Given the description of an element on the screen output the (x, y) to click on. 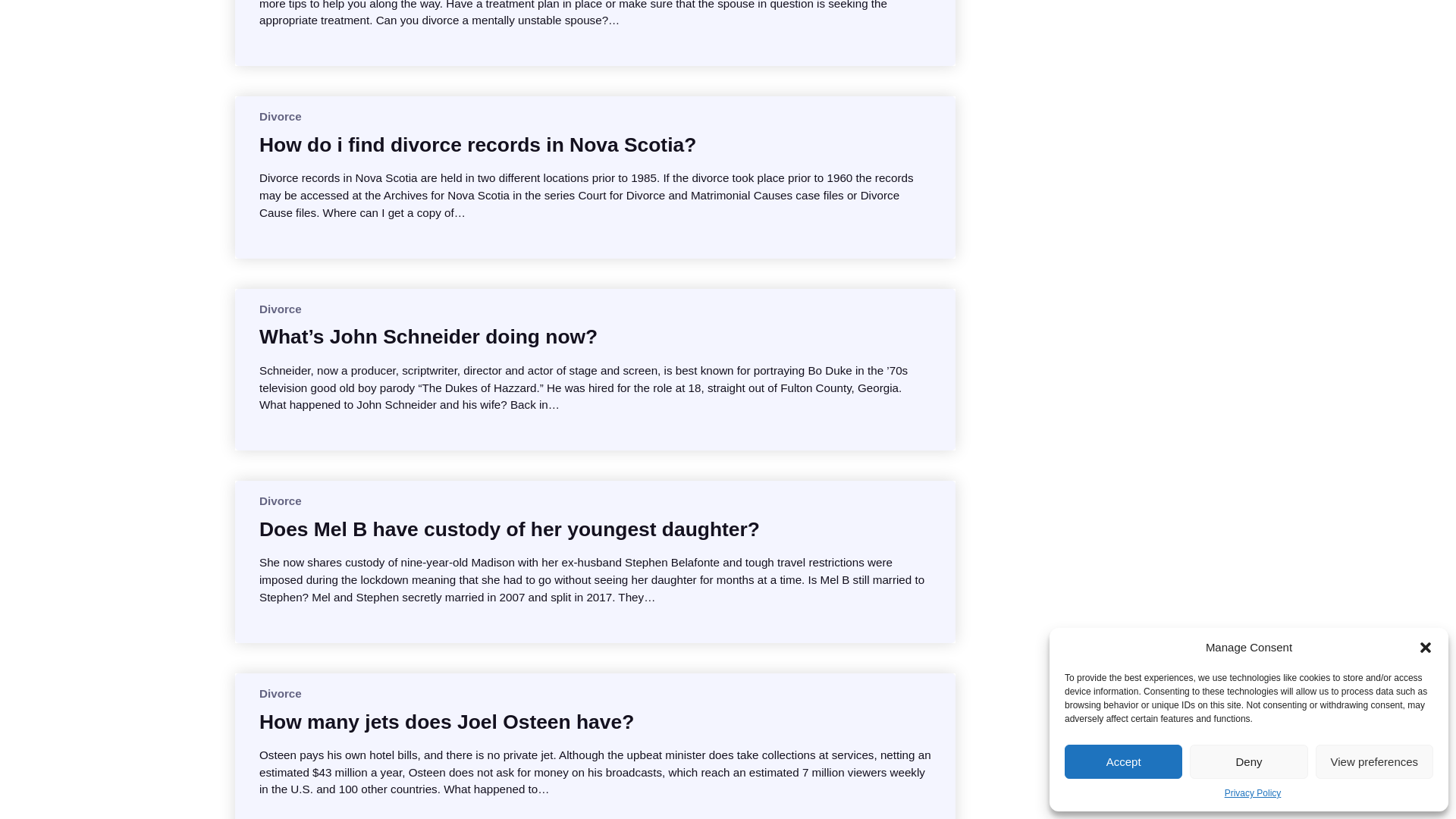
Divorce (280, 693)
Divorce (280, 500)
How do i find divorce records in Nova Scotia? (477, 144)
Does Mel B have custody of her youngest daughter? (509, 529)
How many jets does Joel Osteen have? (446, 721)
Divorce (280, 308)
Divorce (280, 115)
